Given the description of an element on the screen output the (x, y) to click on. 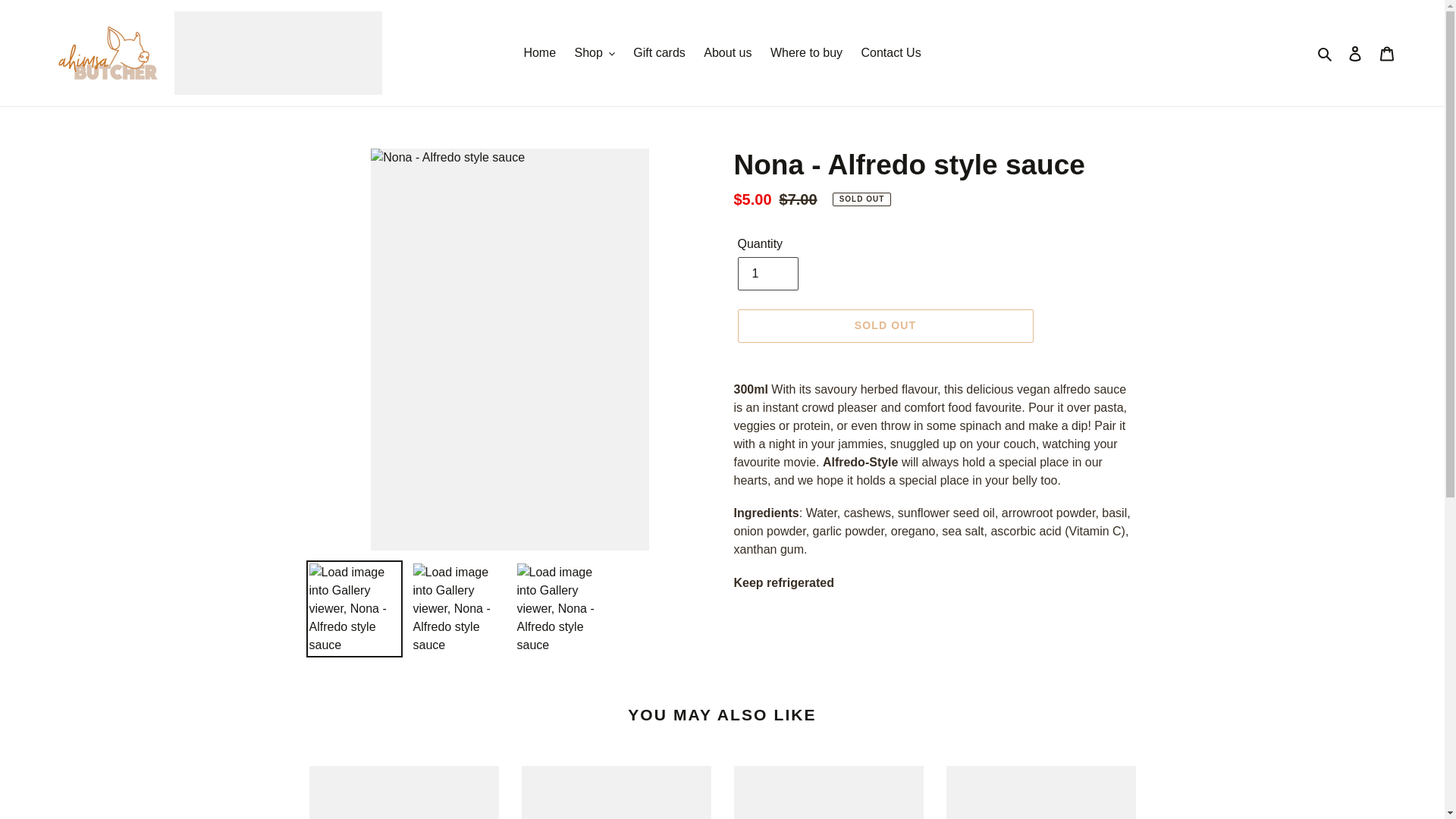
Shop Element type: text (594, 52)
Gift cards Element type: text (658, 52)
Cart Element type: text (1386, 52)
About us Element type: text (727, 52)
Where to buy Element type: text (806, 52)
Search Element type: text (1325, 52)
Log in Element type: text (1355, 52)
SOLD OUT Element type: text (884, 325)
Home Element type: text (539, 52)
Contact Us Element type: text (890, 52)
